Given the description of an element on the screen output the (x, y) to click on. 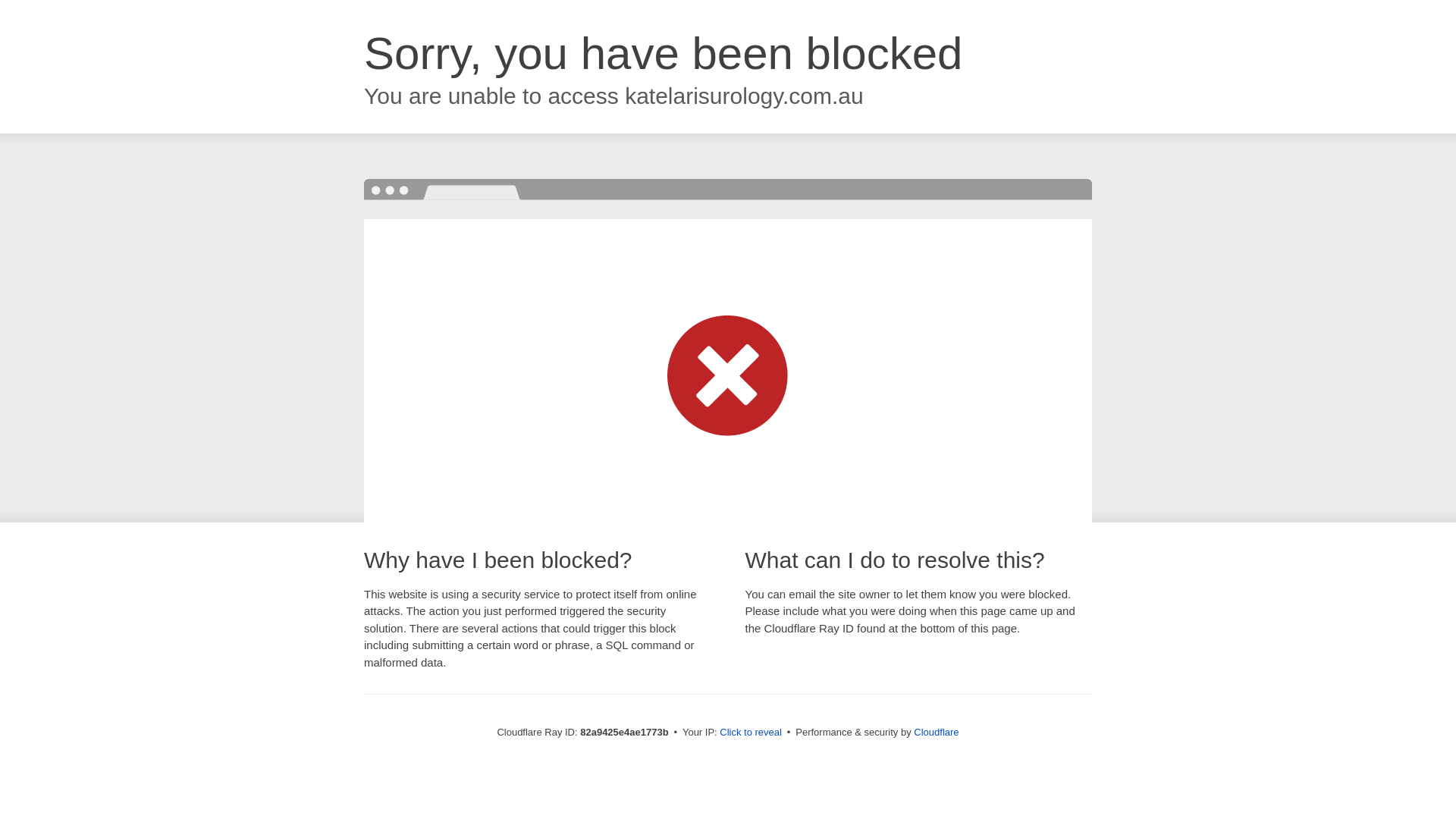
Click to reveal Element type: text (750, 732)
Cloudflare Element type: text (935, 731)
